Given the description of an element on the screen output the (x, y) to click on. 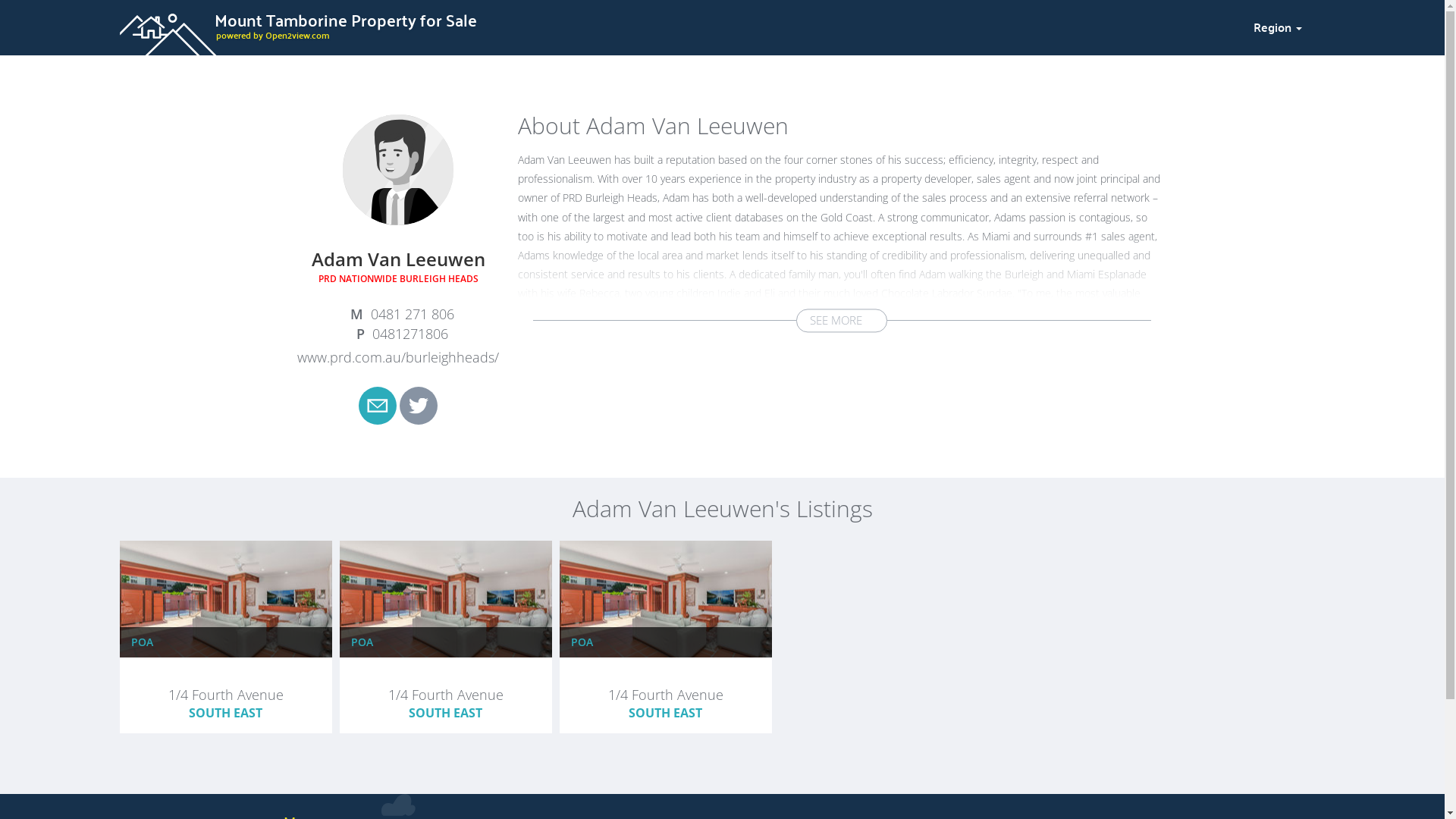
POA
1/4 Fourth Avenue
SOUTH EAST Element type: text (225, 636)
0481271806 Element type: text (398, 334)
POA
1/4 Fourth Avenue
SOUTH EAST Element type: text (665, 636)
POA
1/4 Fourth Avenue
SOUTH EAST Element type: text (445, 636)
Property #652164 Element type: hover (664, 677)
0481 271 806 Element type: text (398, 314)
www.prd.com.au/burleighheads/ Element type: text (397, 357)
Property #652164 Element type: hover (225, 677)
Mount Tamborine Property for Sale
powered by Open2view.com Element type: text (676, 25)
Property #652164 Element type: hover (444, 677)
